Given the description of an element on the screen output the (x, y) to click on. 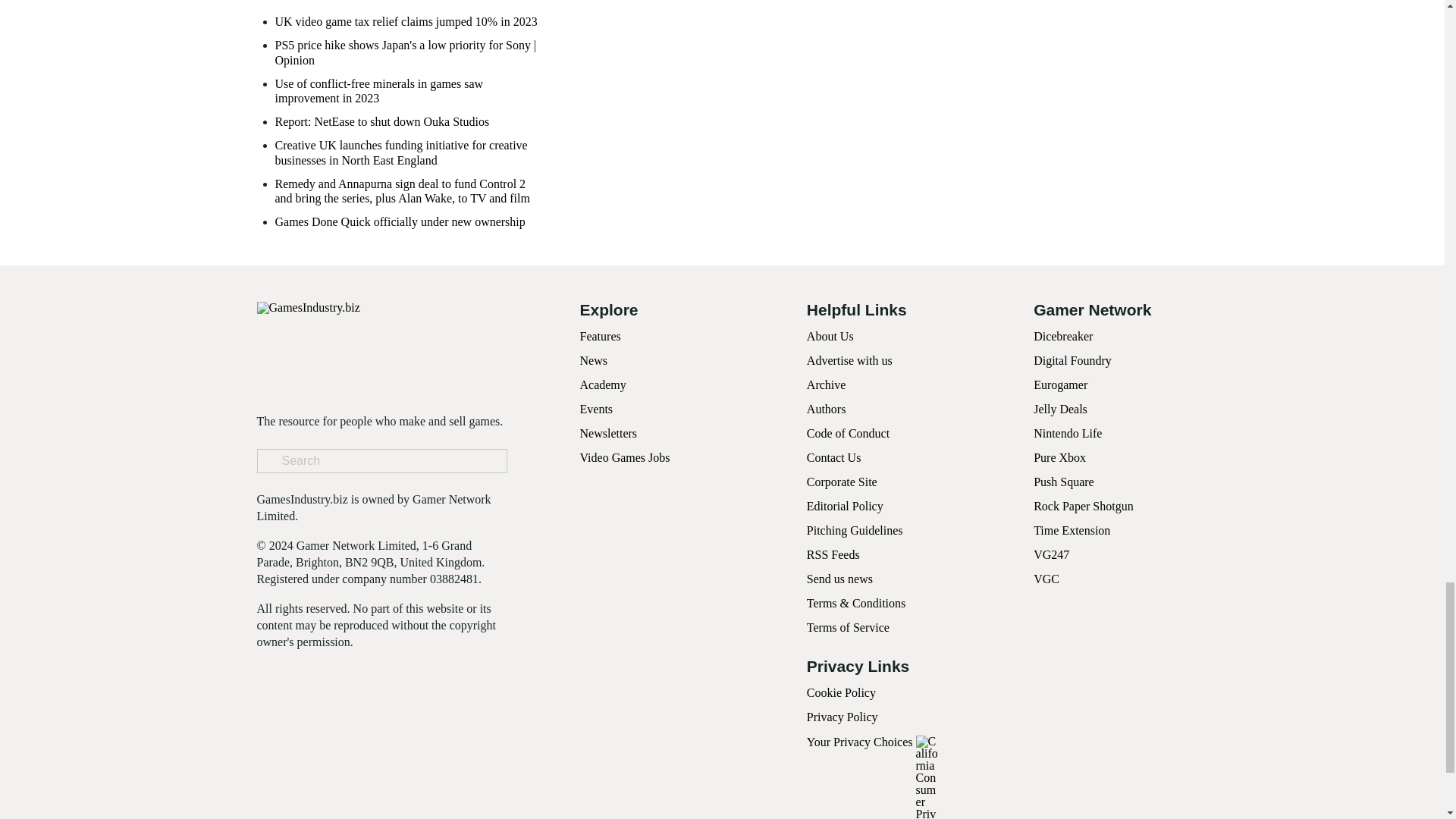
Report: NetEase to shut down Ouka Studios (382, 121)
Video Games Jobs (624, 457)
Events (595, 408)
Features (599, 336)
News (593, 359)
Newsletters (608, 432)
About Us (829, 336)
Academy (602, 384)
